Given the description of an element on the screen output the (x, y) to click on. 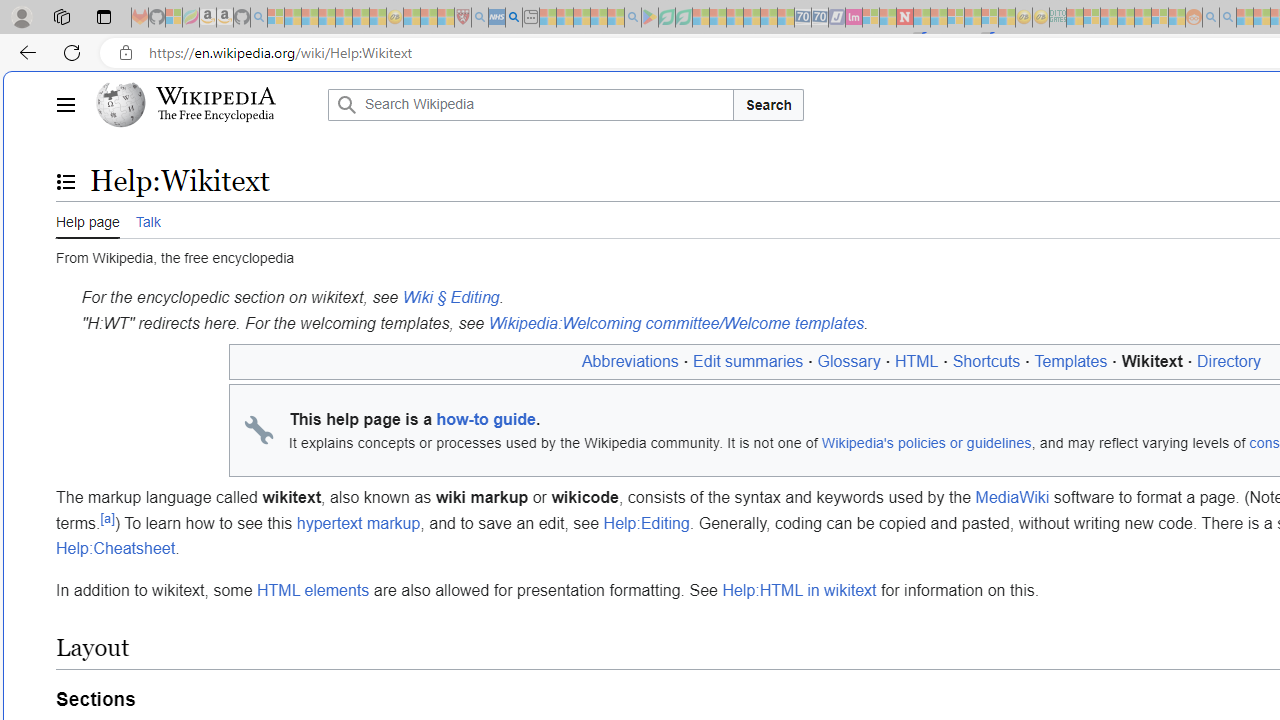
Directory (1229, 361)
hypertext markup (358, 523)
Wikipedia's policies or guidelines (925, 443)
Help:HTML in wikitext (798, 590)
New tab - Sleeping (530, 17)
